Given the description of an element on the screen output the (x, y) to click on. 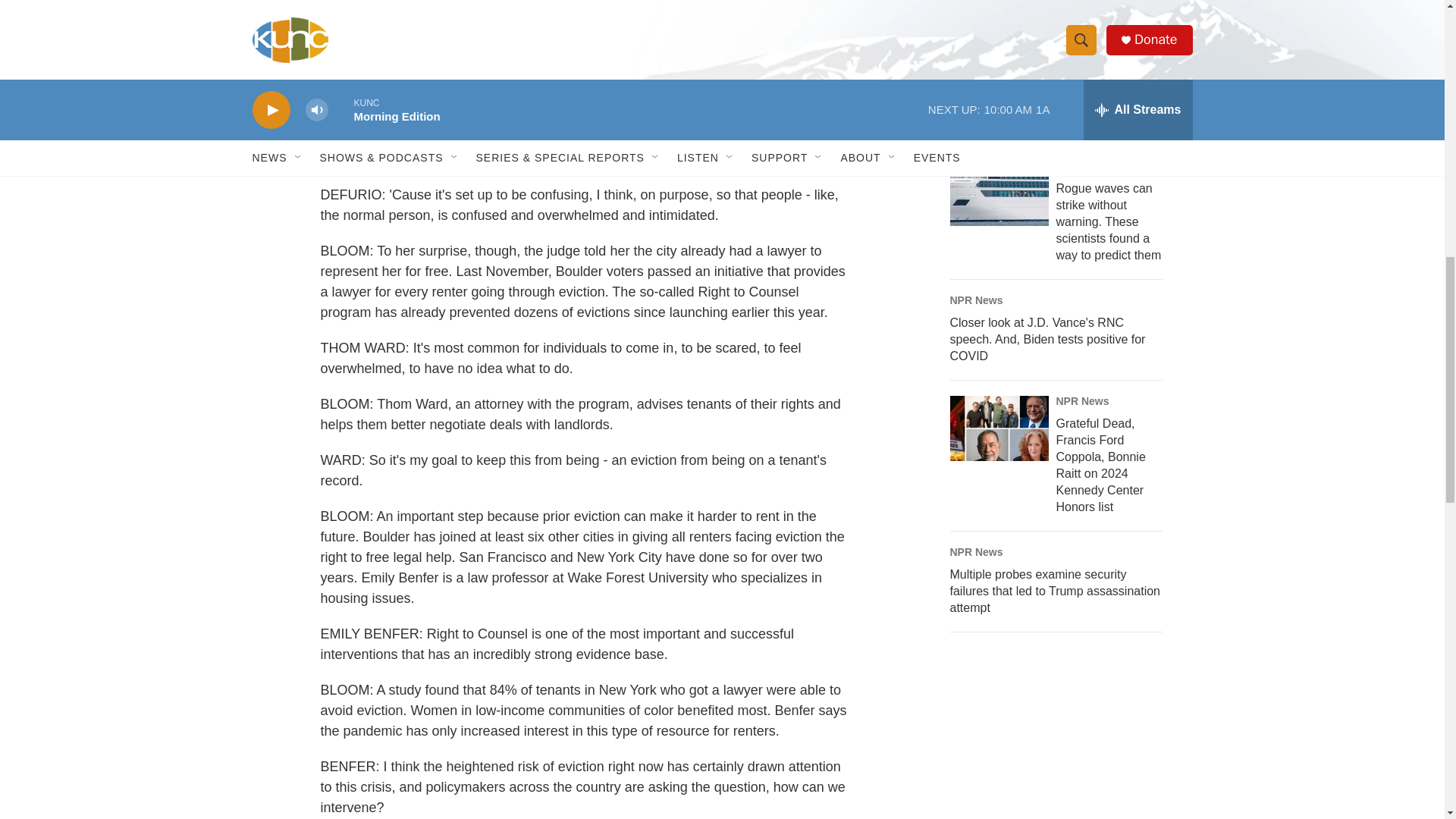
3rd party ad content (1062, 740)
